Given the description of an element on the screen output the (x, y) to click on. 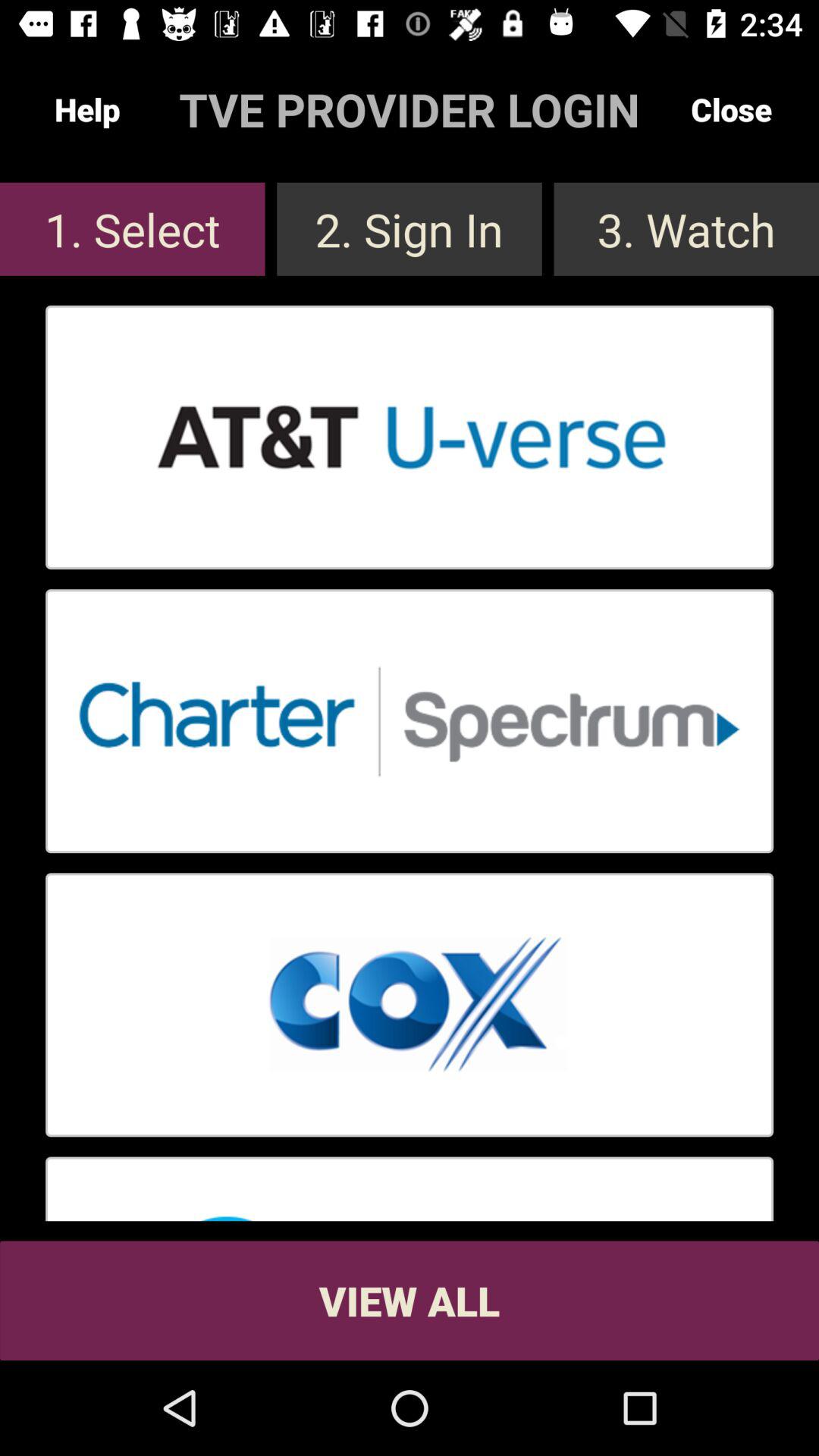
flip until the close button (731, 108)
